Given the description of an element on the screen output the (x, y) to click on. 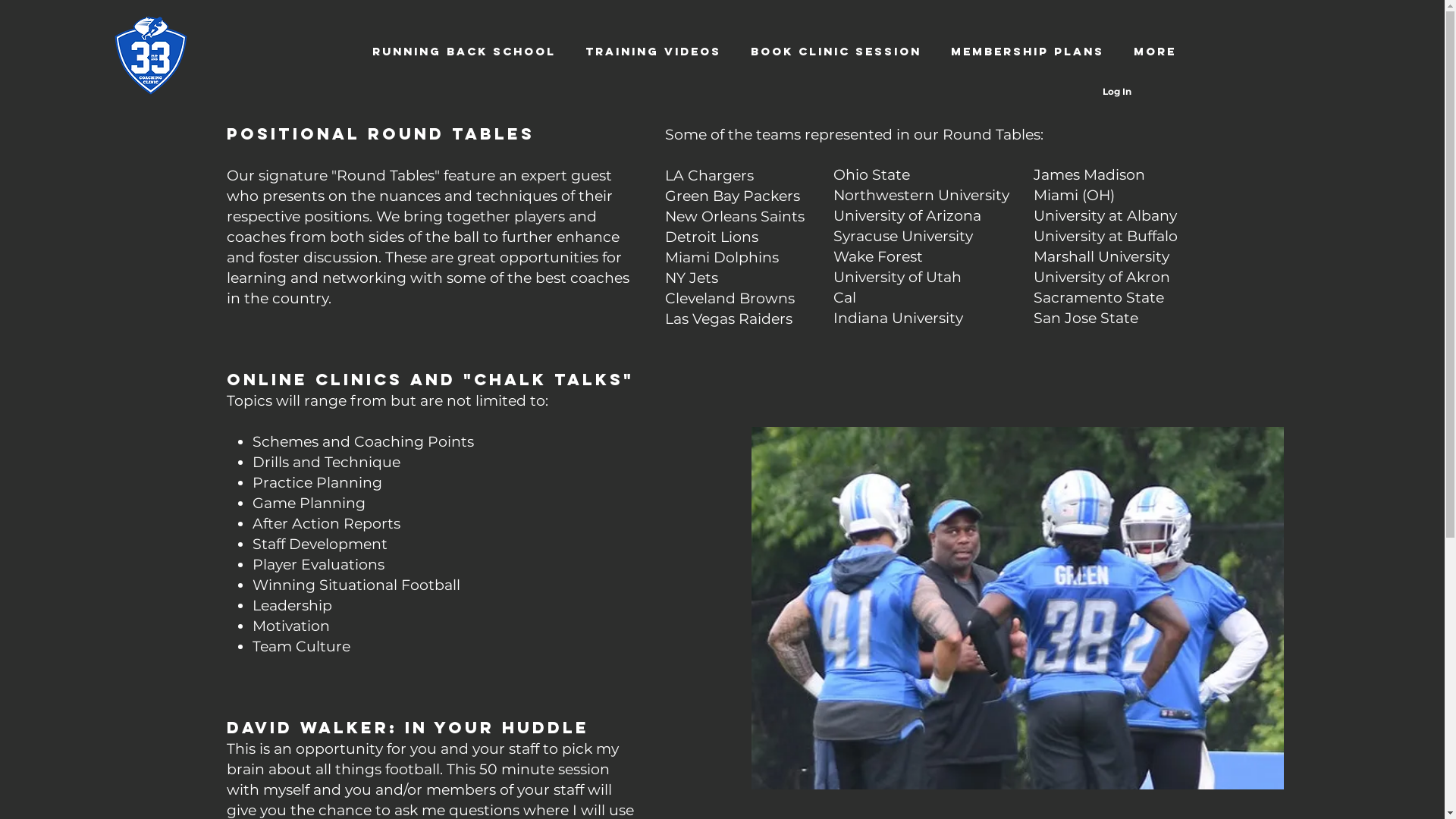
MEMBERSHIP PLANS Element type: text (1026, 51)
TRAINING VIDEOS Element type: text (652, 51)
BOOK CLINIC SESSION Element type: text (835, 51)
RUNNING BACK SCHOOL Element type: text (463, 51)
Log In Element type: text (1117, 92)
